Given the description of an element on the screen output the (x, y) to click on. 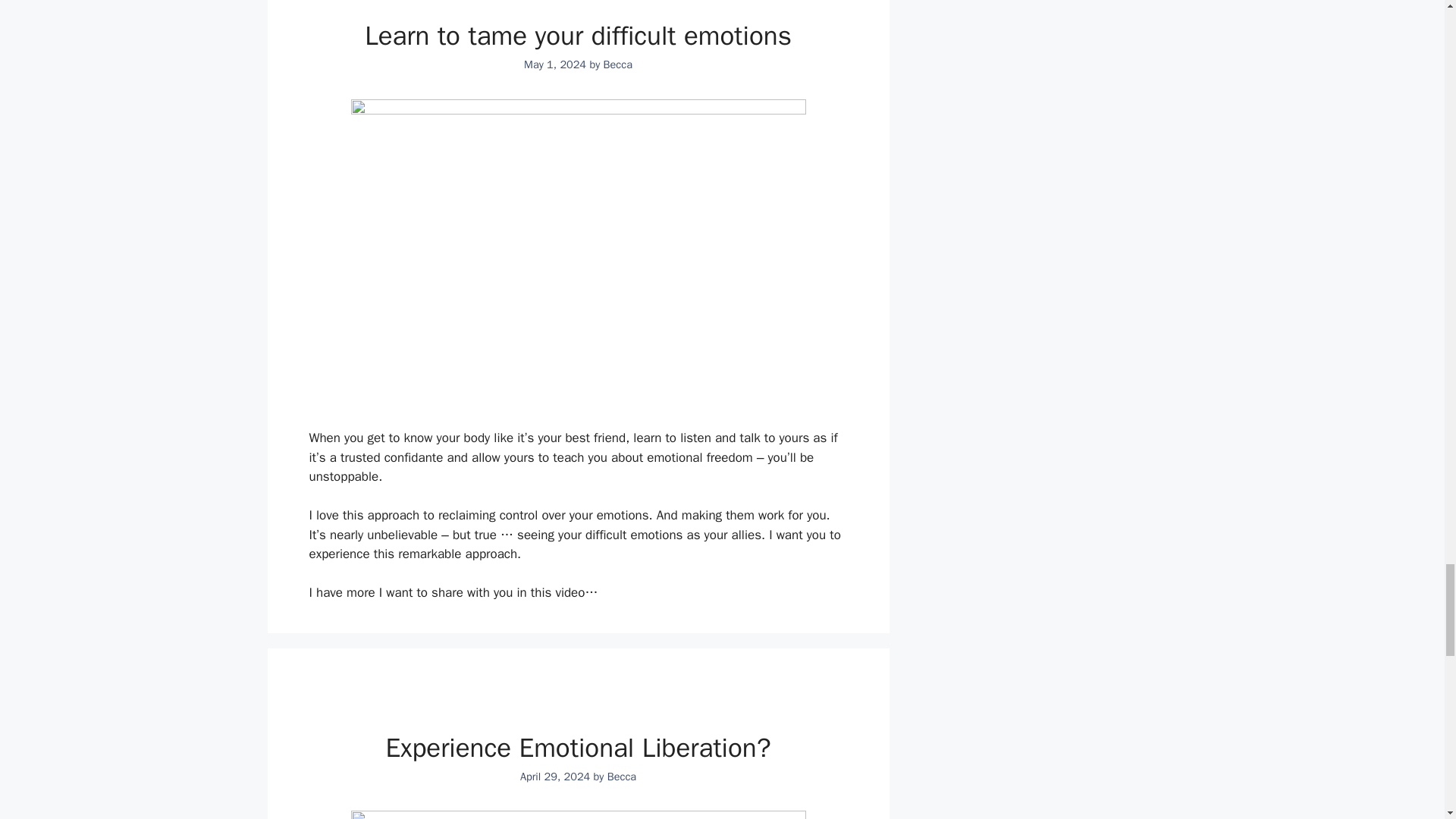
View all posts by Becca (617, 64)
View all posts by Becca (621, 775)
